Given the description of an element on the screen output the (x, y) to click on. 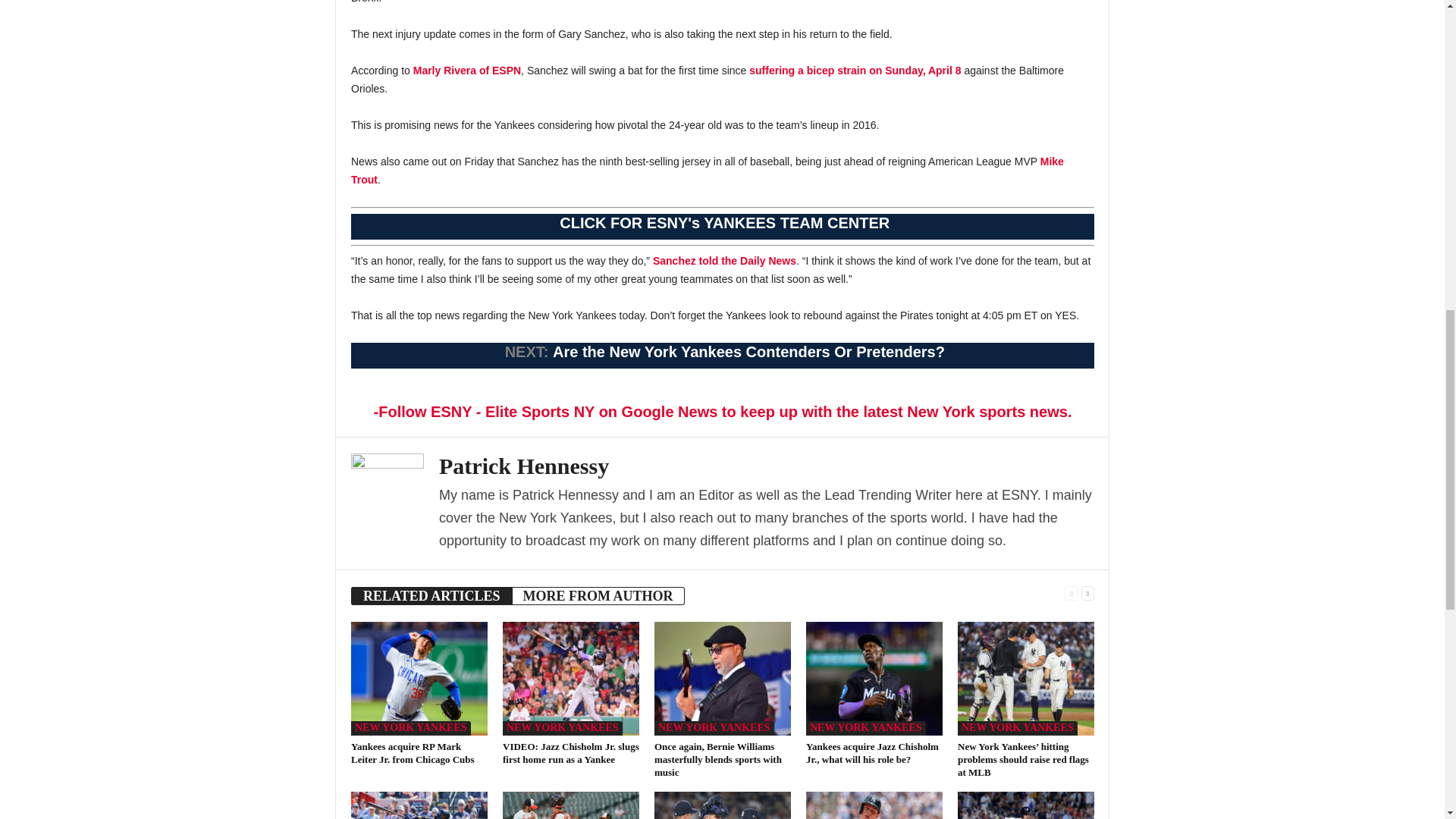
suffering a biceps strain on Sunday, April 8 (854, 70)
Marly Rivera of ESPN (467, 70)
Yankees acquire RP Mark Leiter Jr. from Chicago Cubs (418, 678)
